Given the description of an element on the screen output the (x, y) to click on. 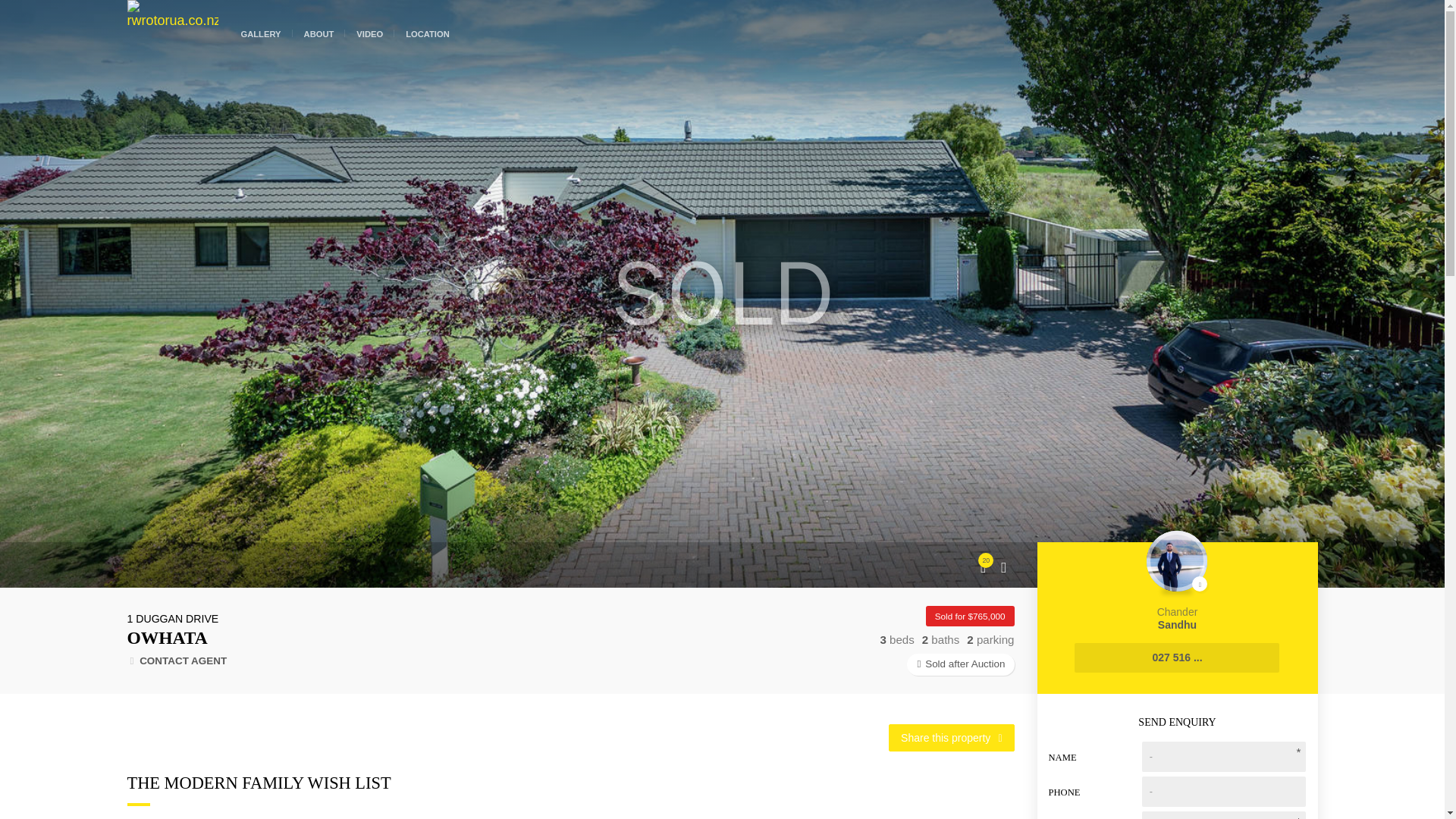
GALLERY (260, 28)
LOCATION (427, 28)
LOCATION (427, 28)
Share this property (950, 737)
More about Chander (1177, 580)
ABOUT (1177, 580)
ABOUT (319, 28)
GALLERY (319, 28)
Visit Website (260, 28)
